Given the description of an element on the screen output the (x, y) to click on. 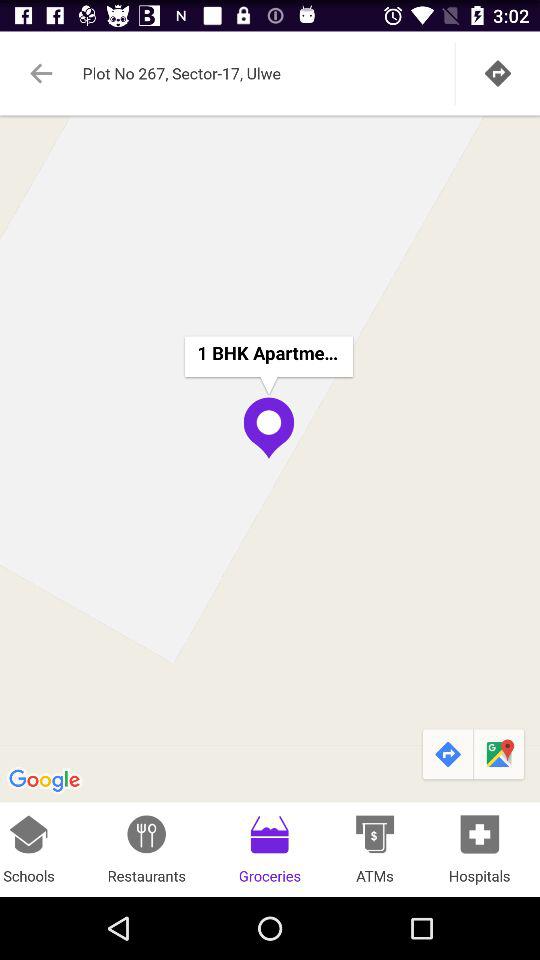
click item above the schools (270, 458)
